Given the description of an element on the screen output the (x, y) to click on. 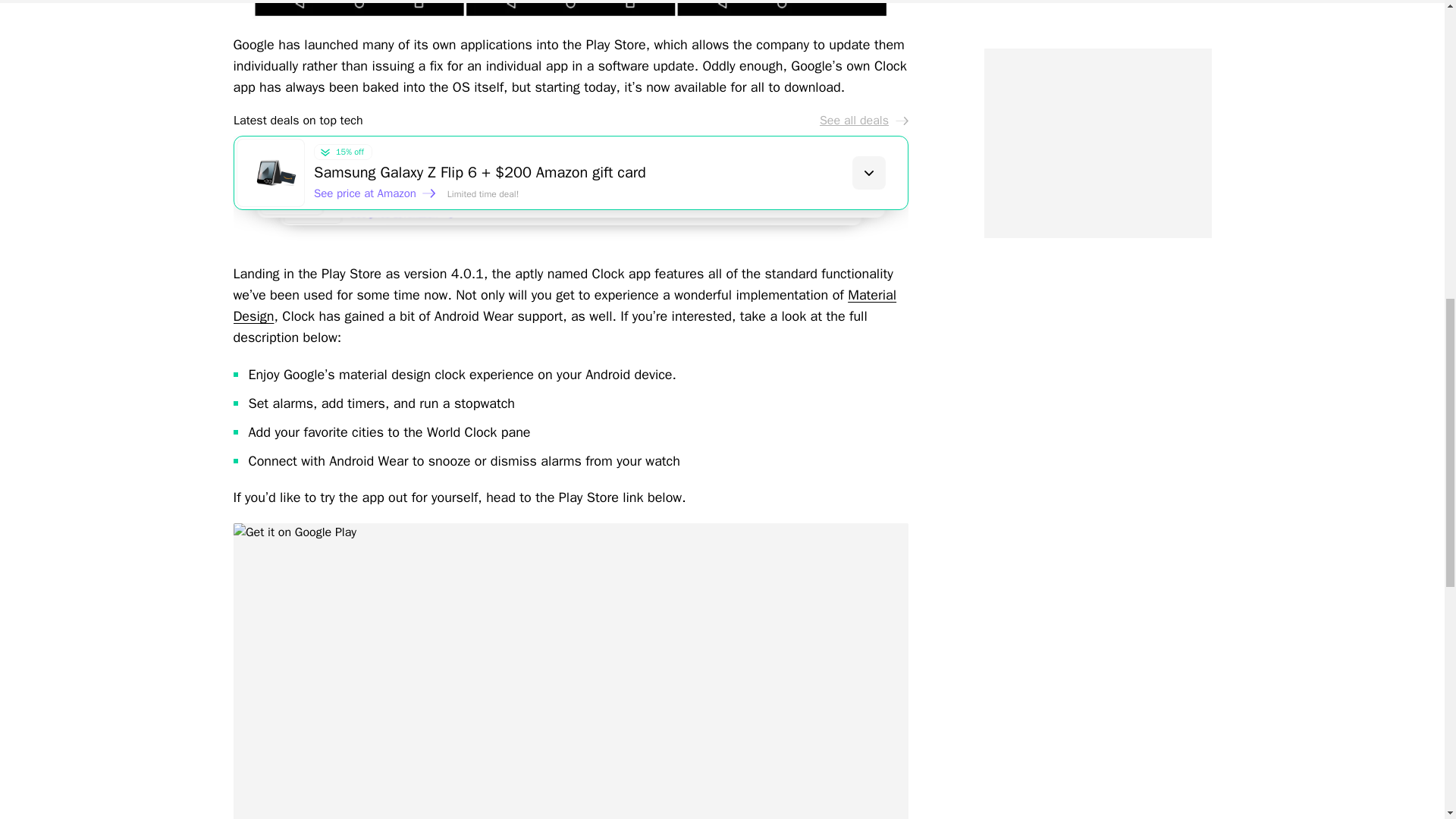
See all deals (862, 120)
See price at Amazon (374, 192)
Google Clock AA (569, 9)
See price at Amazon (409, 218)
See price at Amazon (391, 206)
Material Design (564, 305)
